Given the description of an element on the screen output the (x, y) to click on. 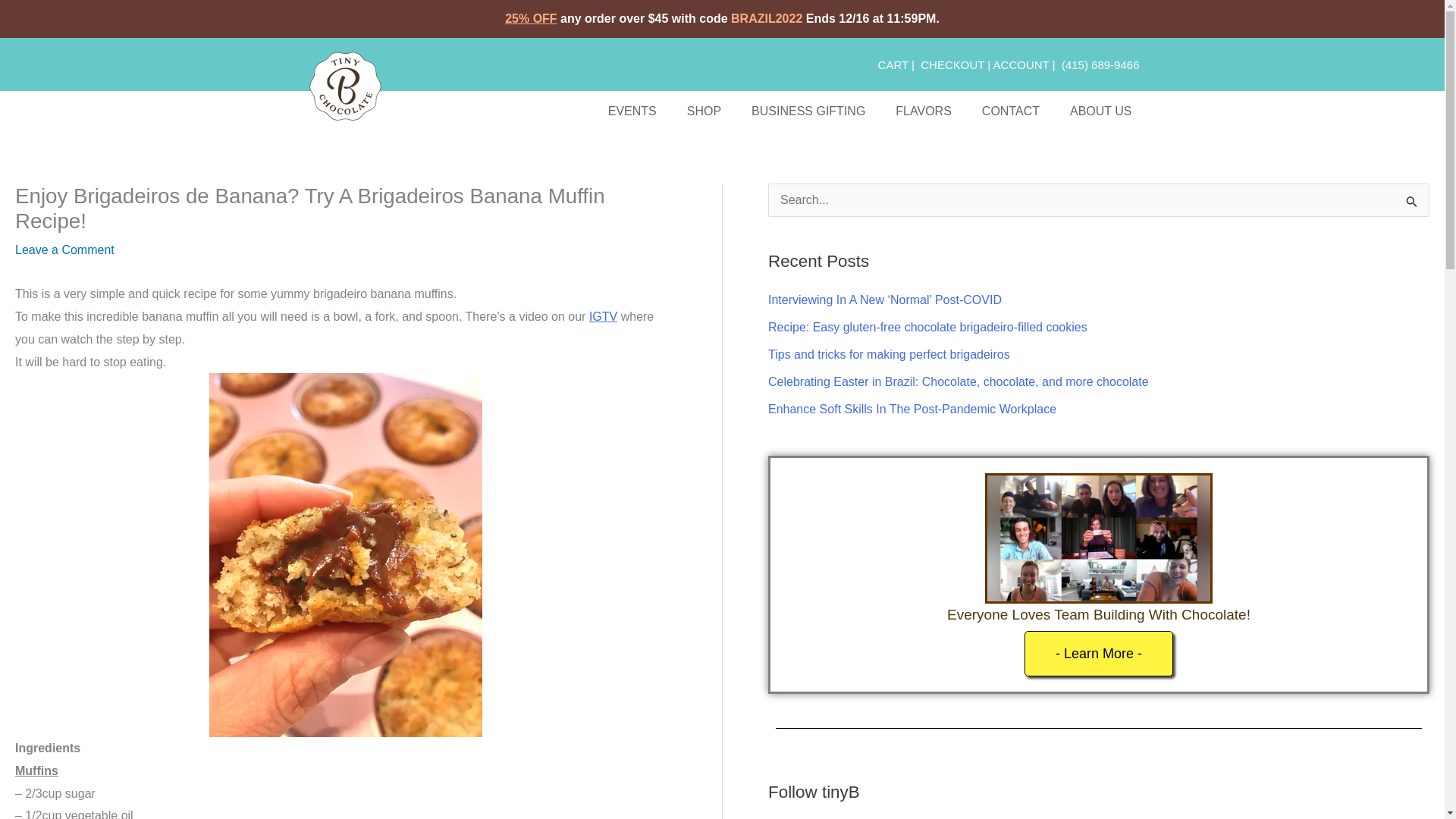
Contact tinyB Chocolate (1010, 111)
IGTV (603, 316)
CART (892, 64)
ABOUT US (1100, 111)
SHOP (703, 111)
Login (1020, 64)
Chocolate gifts for companies and businesses (808, 111)
Shop Chocolate Brigadeiros (703, 111)
CONTACT (1010, 111)
tinyB Chocolate Phone Number (1100, 64)
tinyB Checkout (952, 64)
EVENTS (631, 111)
BRAZIL2022 (766, 18)
BUSINESS GIFTING (808, 111)
Leave a Comment (64, 249)
